Given the description of an element on the screen output the (x, y) to click on. 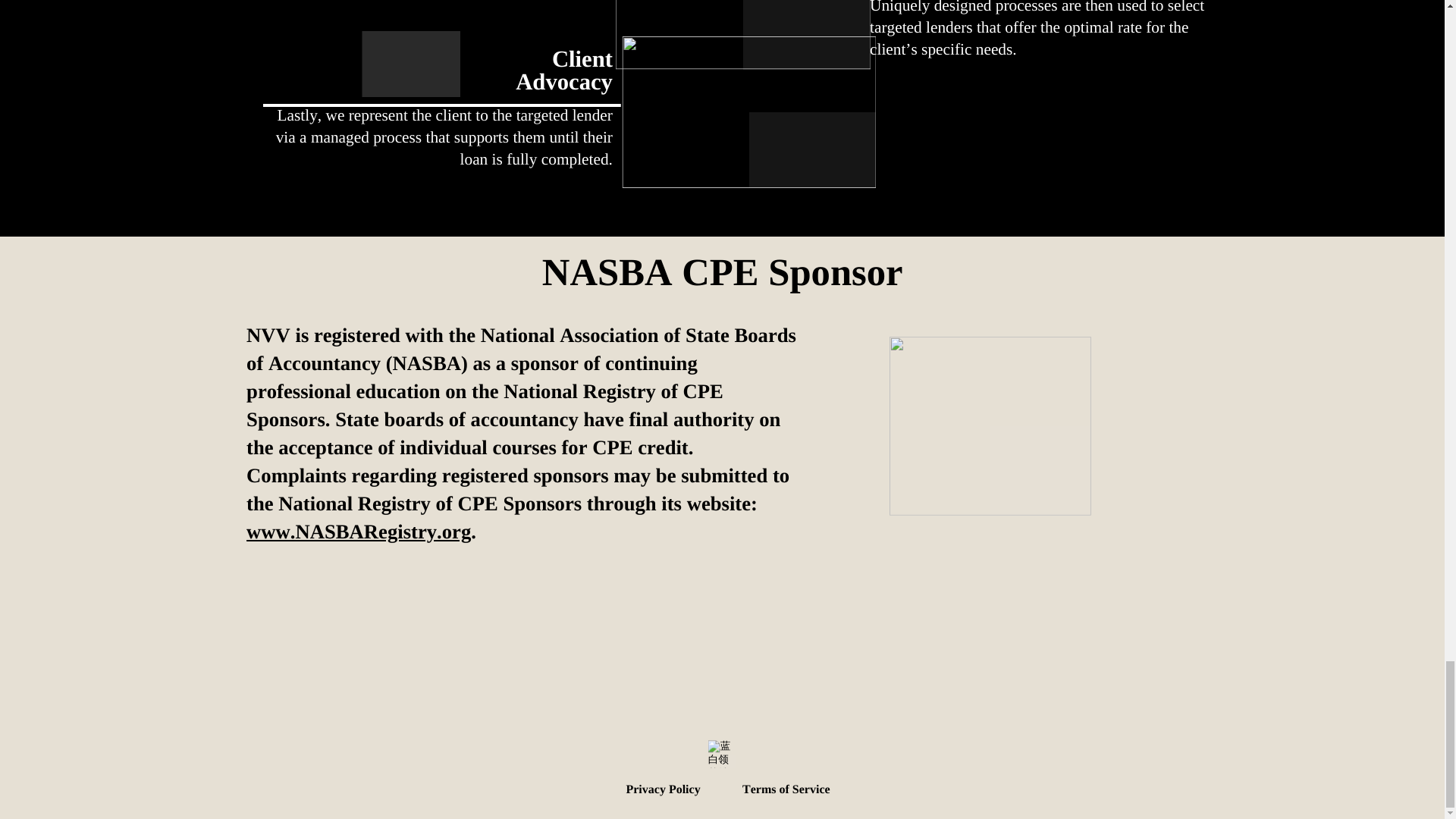
Privacy Policy (663, 789)
www.NASBARegistry.org (358, 531)
Terms of S (770, 789)
